Given the description of an element on the screen output the (x, y) to click on. 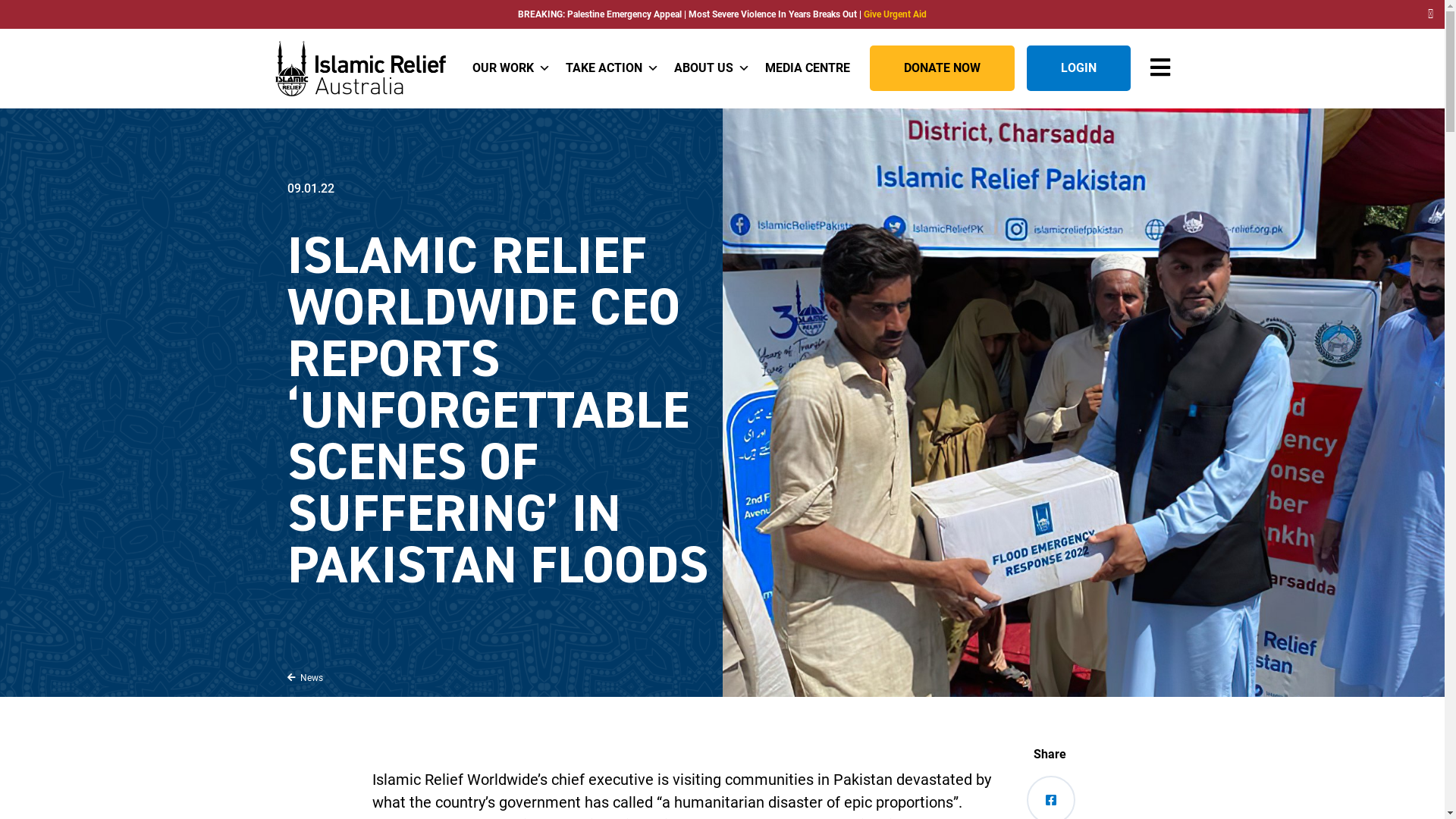
Give Urgent Aid Element type: text (894, 14)
TAKE ACTION Element type: text (612, 68)
OUR WORK Element type: text (511, 68)
  News Element type: text (304, 676)
MEDIA CENTRE Element type: text (807, 68)
ABOUT US Element type: text (711, 68)
